Given the description of an element on the screen output the (x, y) to click on. 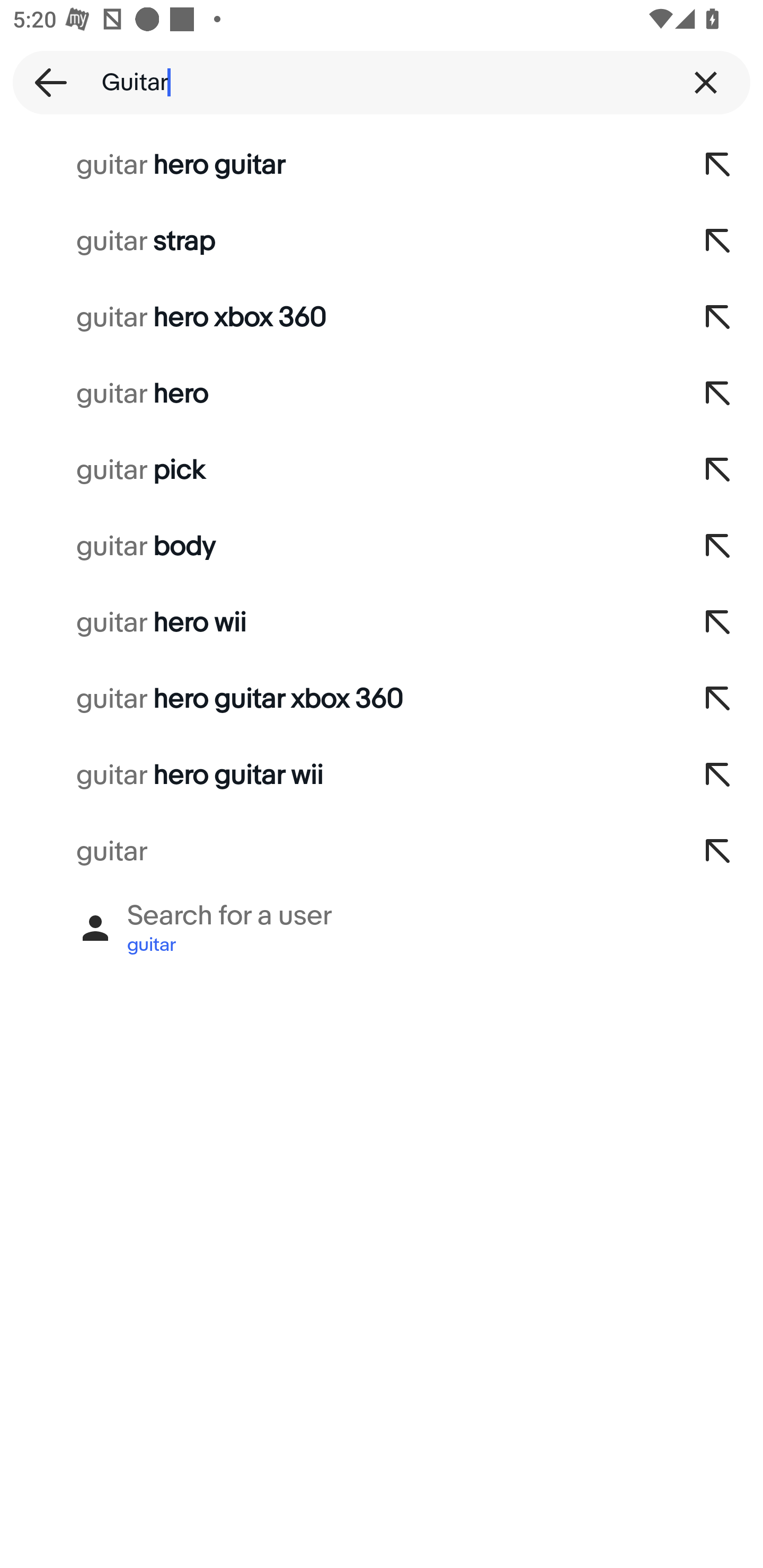
Back (44, 82)
Clear query (705, 82)
Guitar (381, 82)
guitar hero guitar (336, 165)
Add to search query,guitar hero guitar (718, 165)
guitar strap (336, 241)
Add to search query,guitar strap (718, 241)
guitar hero xbox 360 (336, 317)
Add to search query,guitar hero xbox 360 (718, 317)
guitar hero (336, 393)
Add to search query,guitar hero (718, 393)
guitar pick (336, 470)
Add to search query,guitar pick (718, 470)
guitar body (336, 546)
Add to search query,guitar body (718, 546)
guitar hero wii (336, 622)
Add to search query,guitar hero wii (718, 622)
guitar hero guitar xbox 360 (336, 698)
Add to search query,guitar hero guitar xbox 360 (718, 698)
guitar hero guitar wii (336, 774)
Add to search query,guitar hero guitar wii (718, 774)
guitar (336, 851)
Add to search query,guitar (718, 851)
Search for a user
guitar (381, 927)
